Given the description of an element on the screen output the (x, y) to click on. 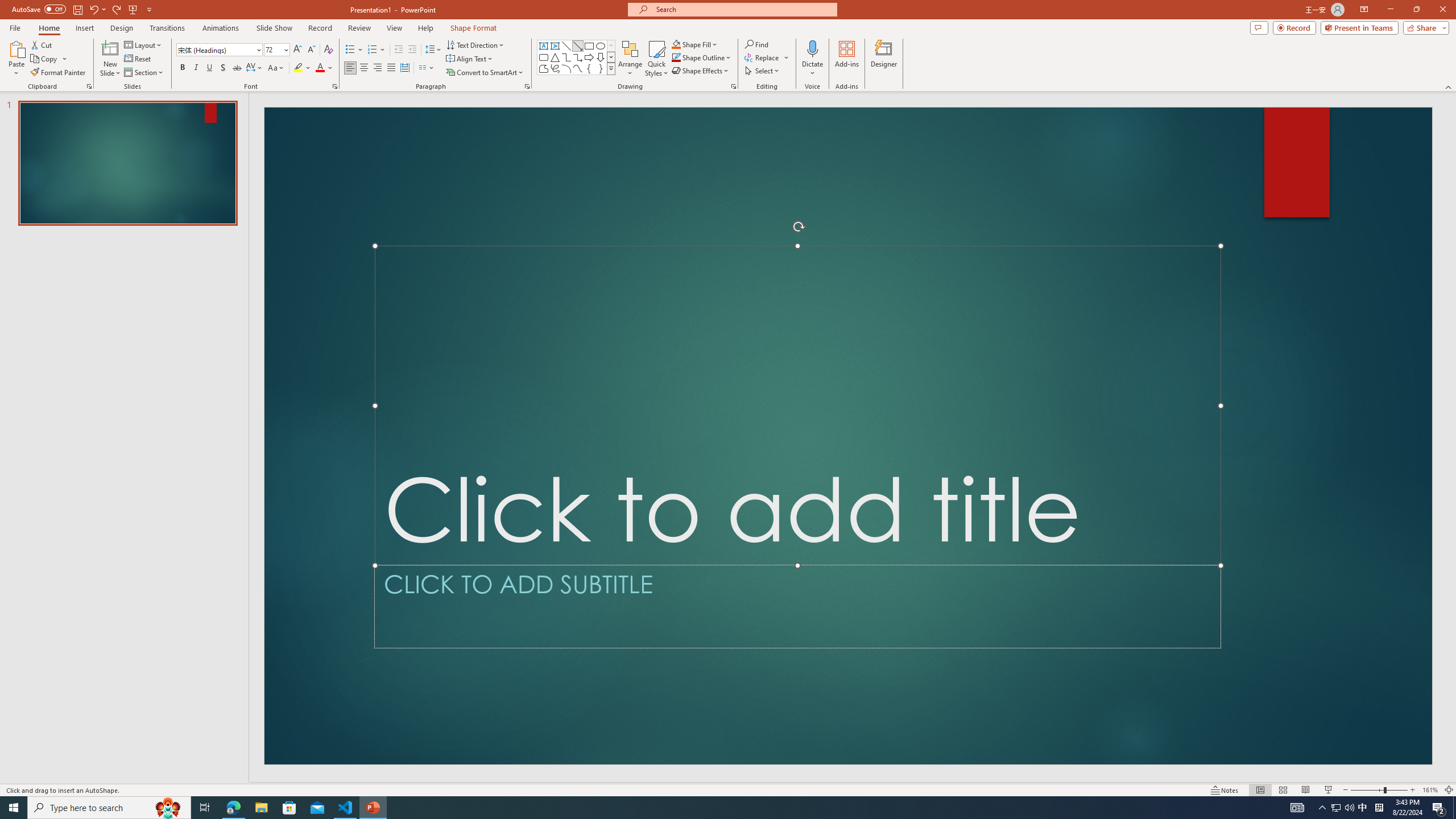
Font (219, 49)
Zoom 161% (1430, 790)
AutomationID: ShapesInsertGallery (576, 57)
Connector: Elbow (566, 57)
Align Right (377, 67)
Layout (143, 44)
Distributed (404, 67)
Right Brace (600, 68)
Freeform: Shape (543, 68)
